Given the description of an element on the screen output the (x, y) to click on. 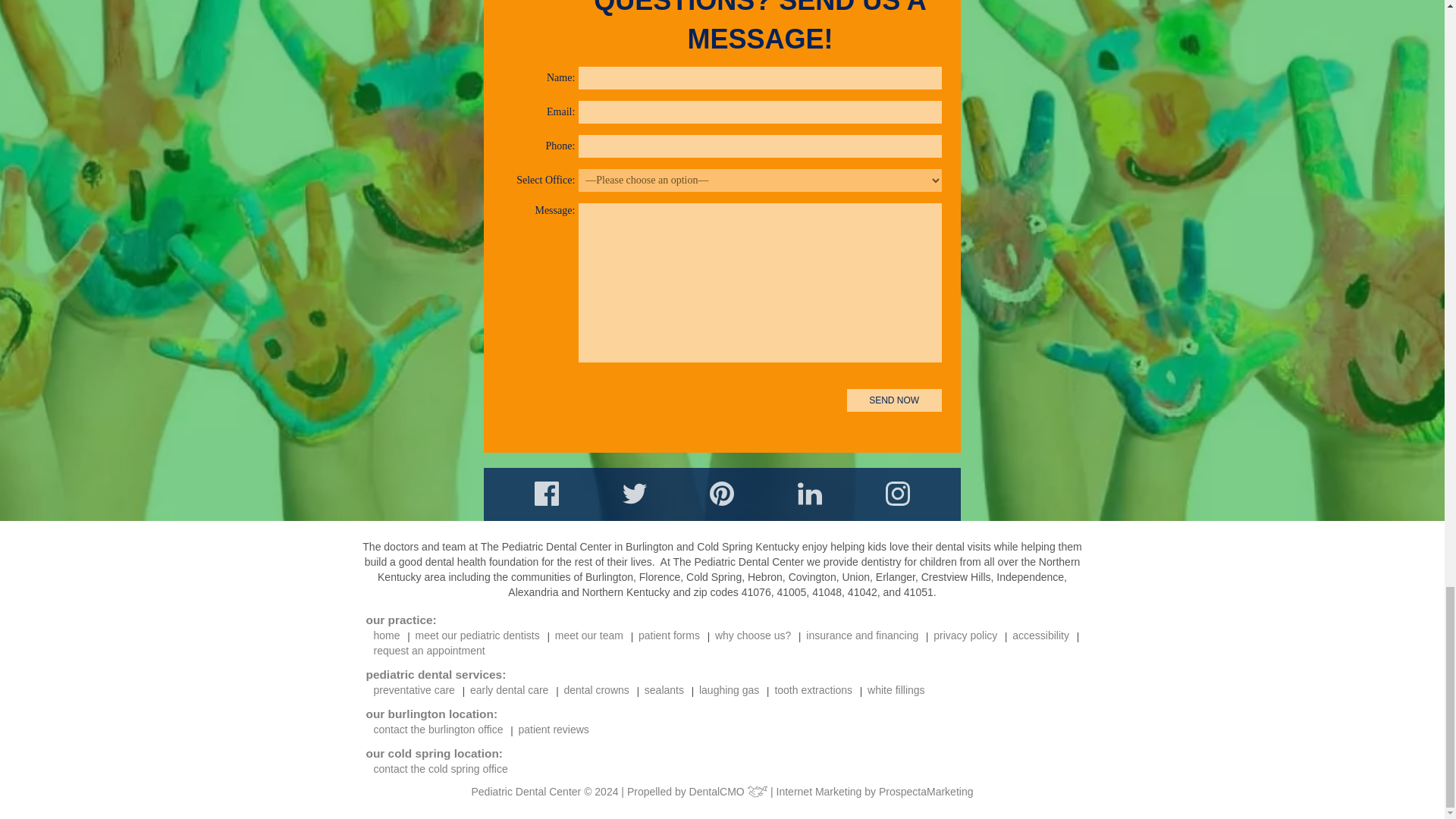
Instagram-black (897, 493)
LinkedIn Created with Sketch. (809, 493)
Send Now (894, 399)
Pinterest Created with Sketch. (721, 493)
Internet Dental Marketing (926, 791)
